Given the description of an element on the screen output the (x, y) to click on. 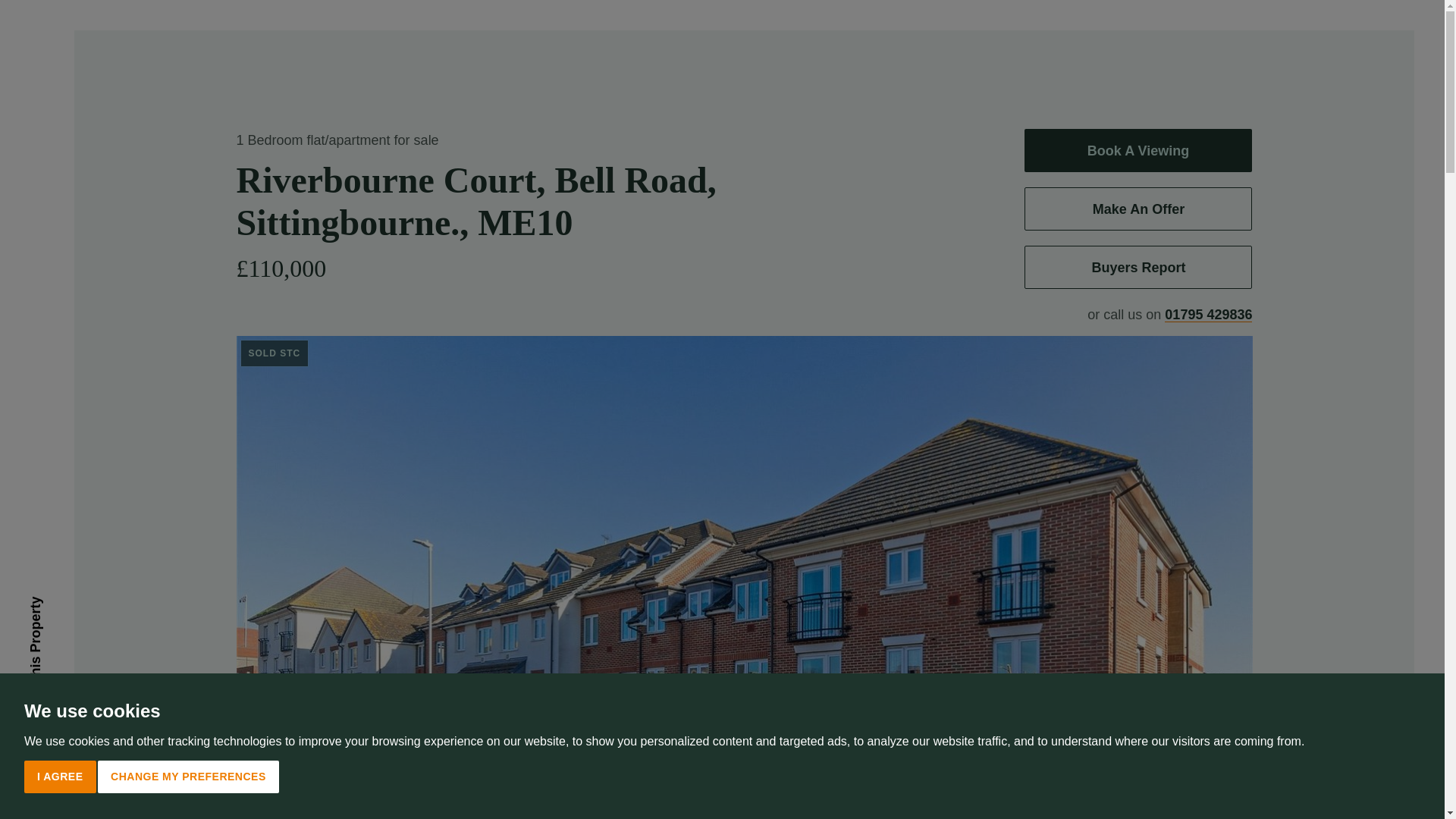
CHANGE MY PREFERENCES (188, 776)
I AGREE (60, 776)
Enquire about this Property (114, 606)
